Given the description of an element on the screen output the (x, y) to click on. 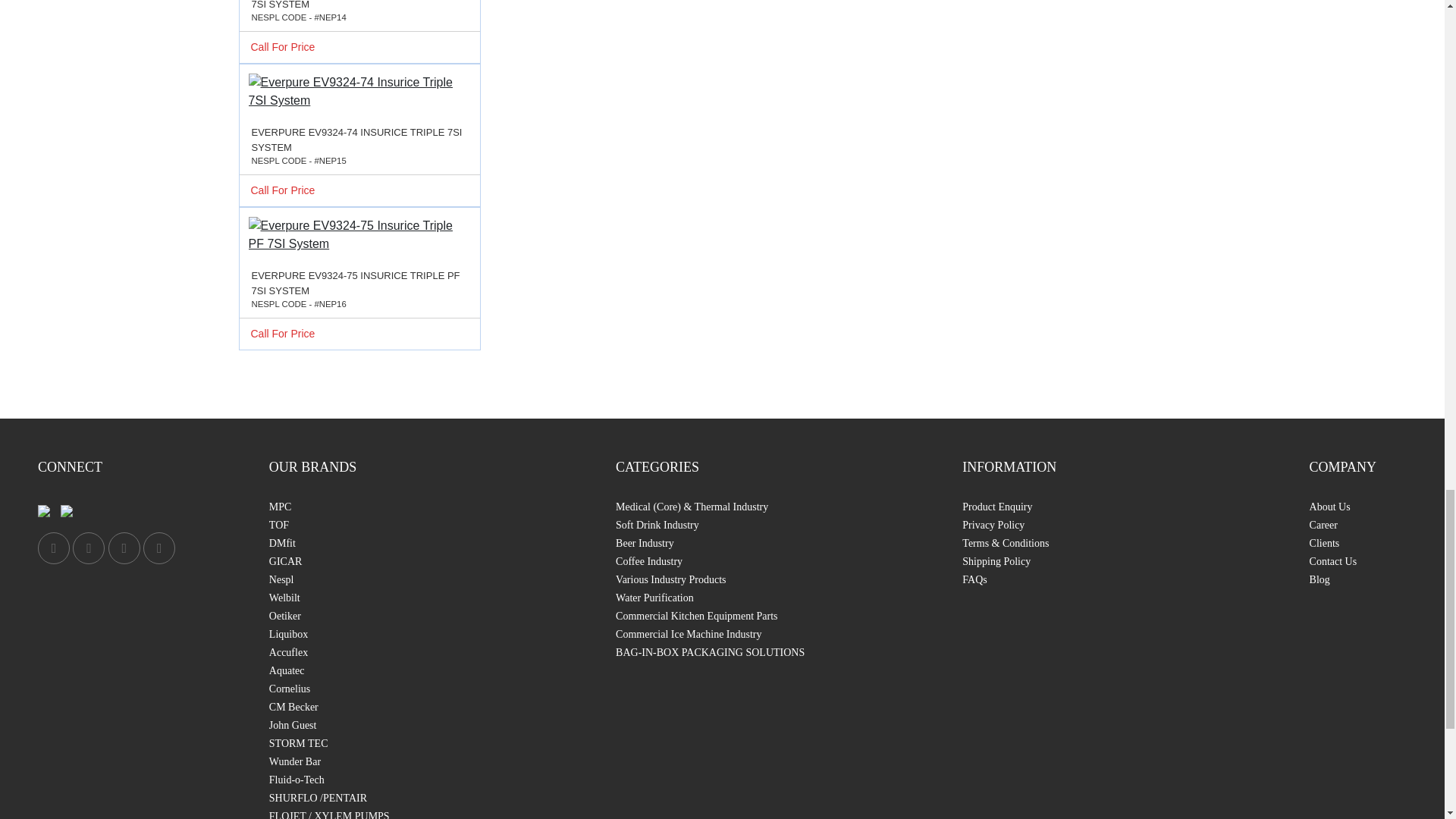
Twitter (88, 548)
Facebook (53, 548)
 Everpure EV9324-74 Insurice Triple 7SI System  (360, 91)
 Everpure EV9324-75 Insurice Triple PF 7SI System  (360, 235)
